Given the description of an element on the screen output the (x, y) to click on. 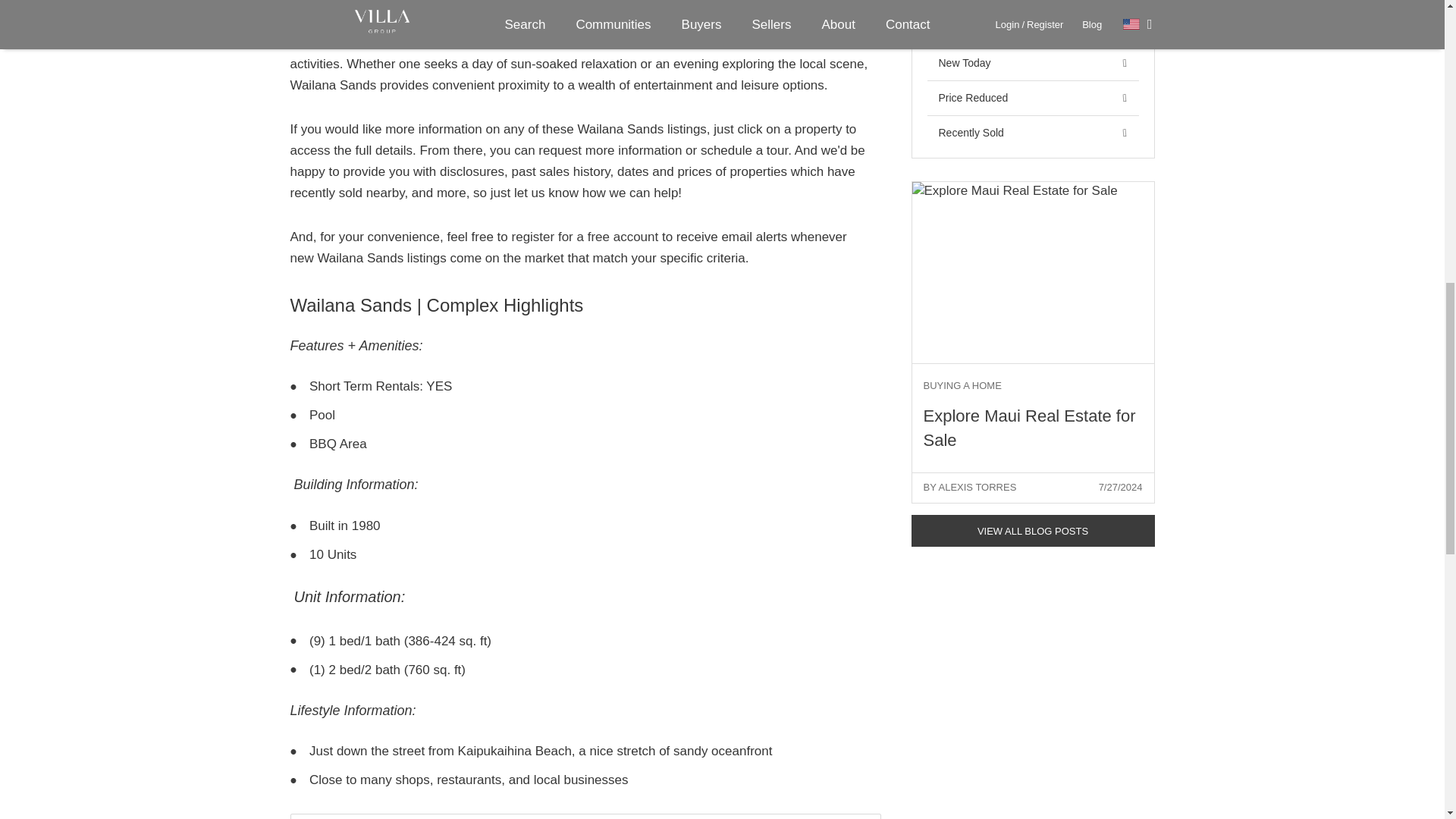
Email Listing Alerts (585, 237)
